Given the description of an element on the screen output the (x, y) to click on. 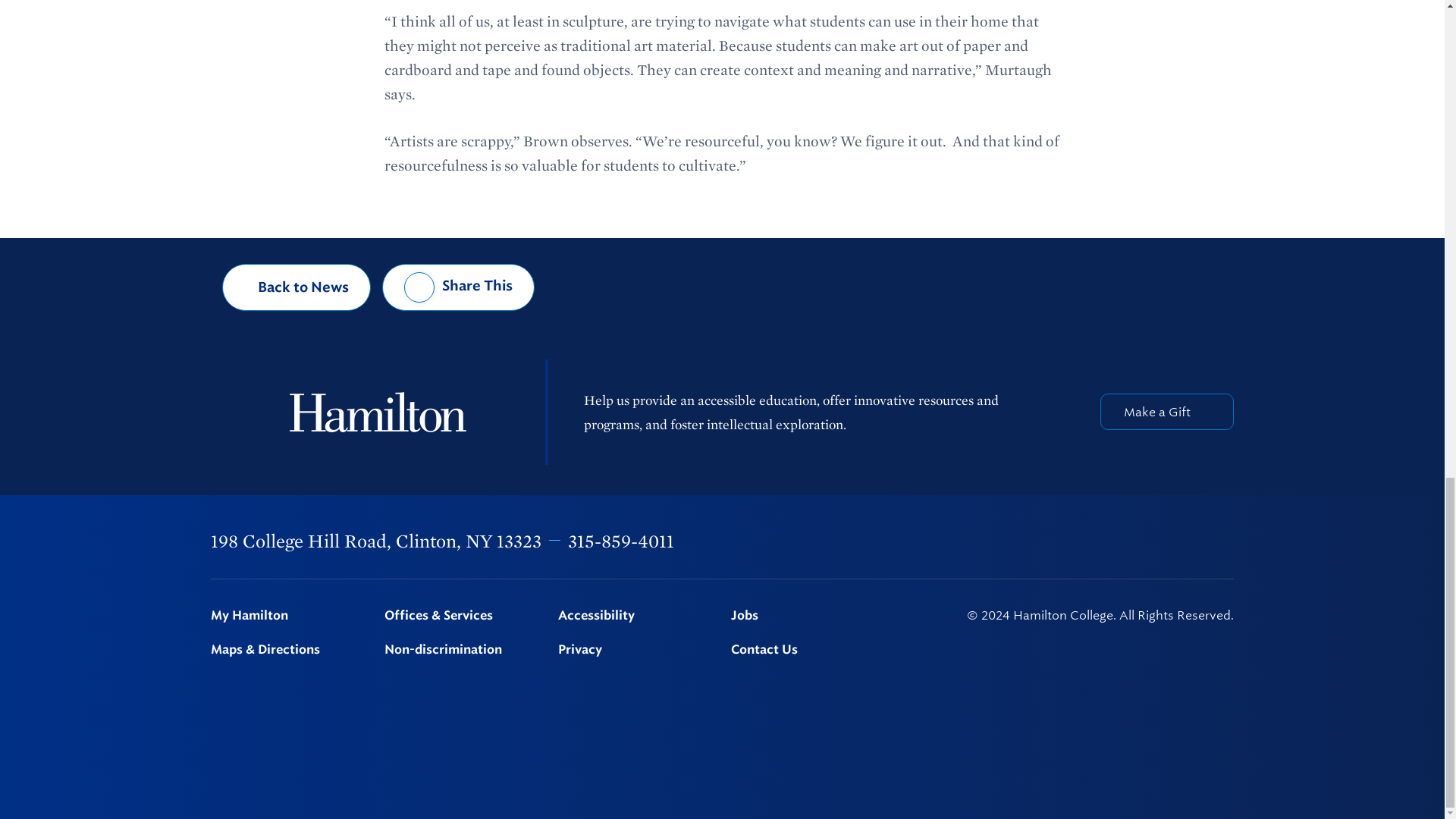
Linkedin (1149, 540)
Back to News (296, 287)
Instagram (1109, 540)
TikTok (1226, 540)
198 College Hill Road, Clinton, NY 13323 (375, 540)
My Hamilton (288, 615)
Make a Gift (1166, 411)
Facebook (1029, 540)
Twitter (1069, 540)
Share This (457, 287)
